Given the description of an element on the screen output the (x, y) to click on. 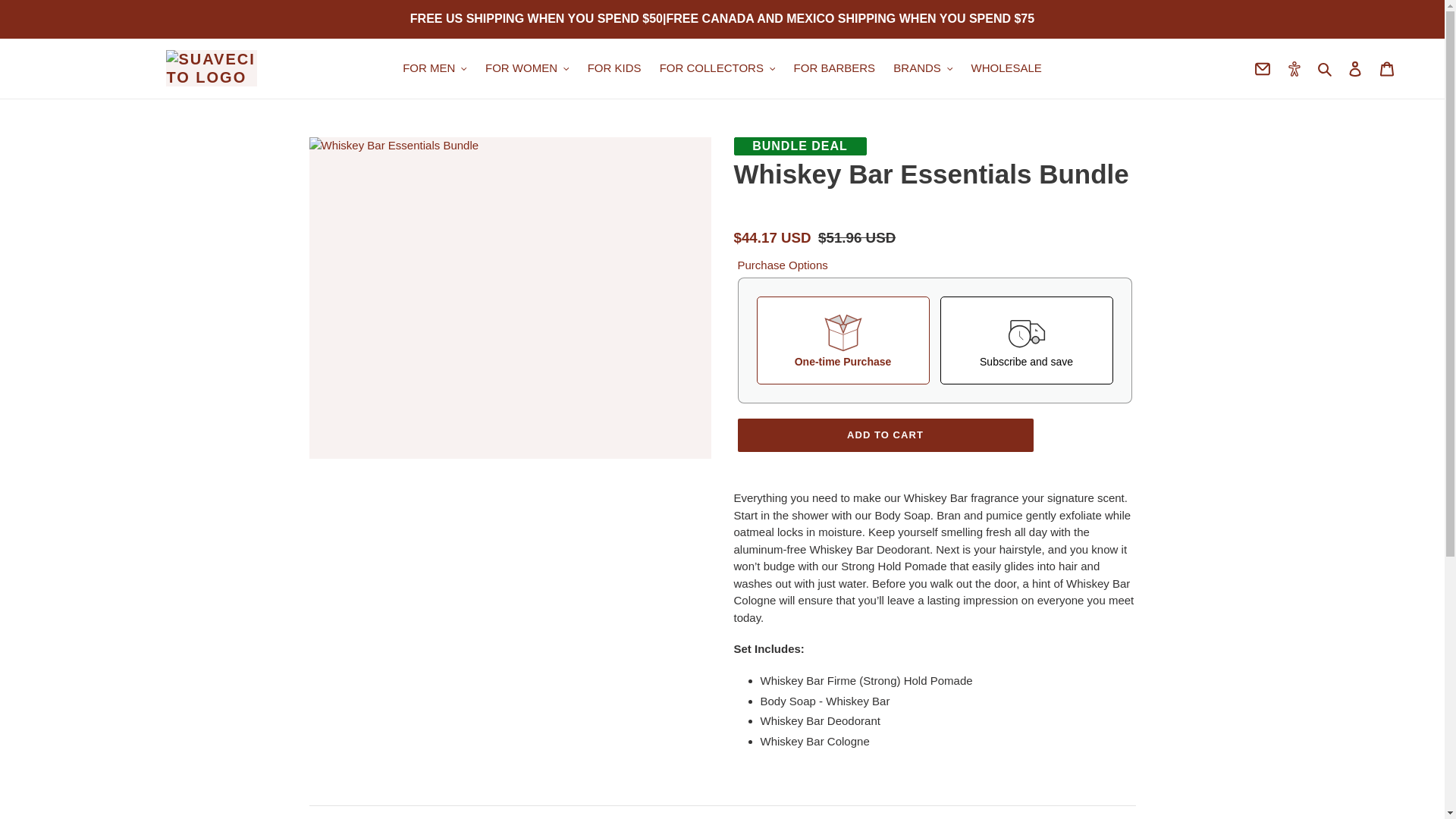
FOR MEN (434, 68)
FOR BARBERS (834, 68)
BRANDS (922, 68)
FOR COLLECTORS (717, 68)
WHOLESALE (1005, 68)
FOR KIDS (614, 68)
FOR WOMEN (526, 68)
